Given the description of an element on the screen output the (x, y) to click on. 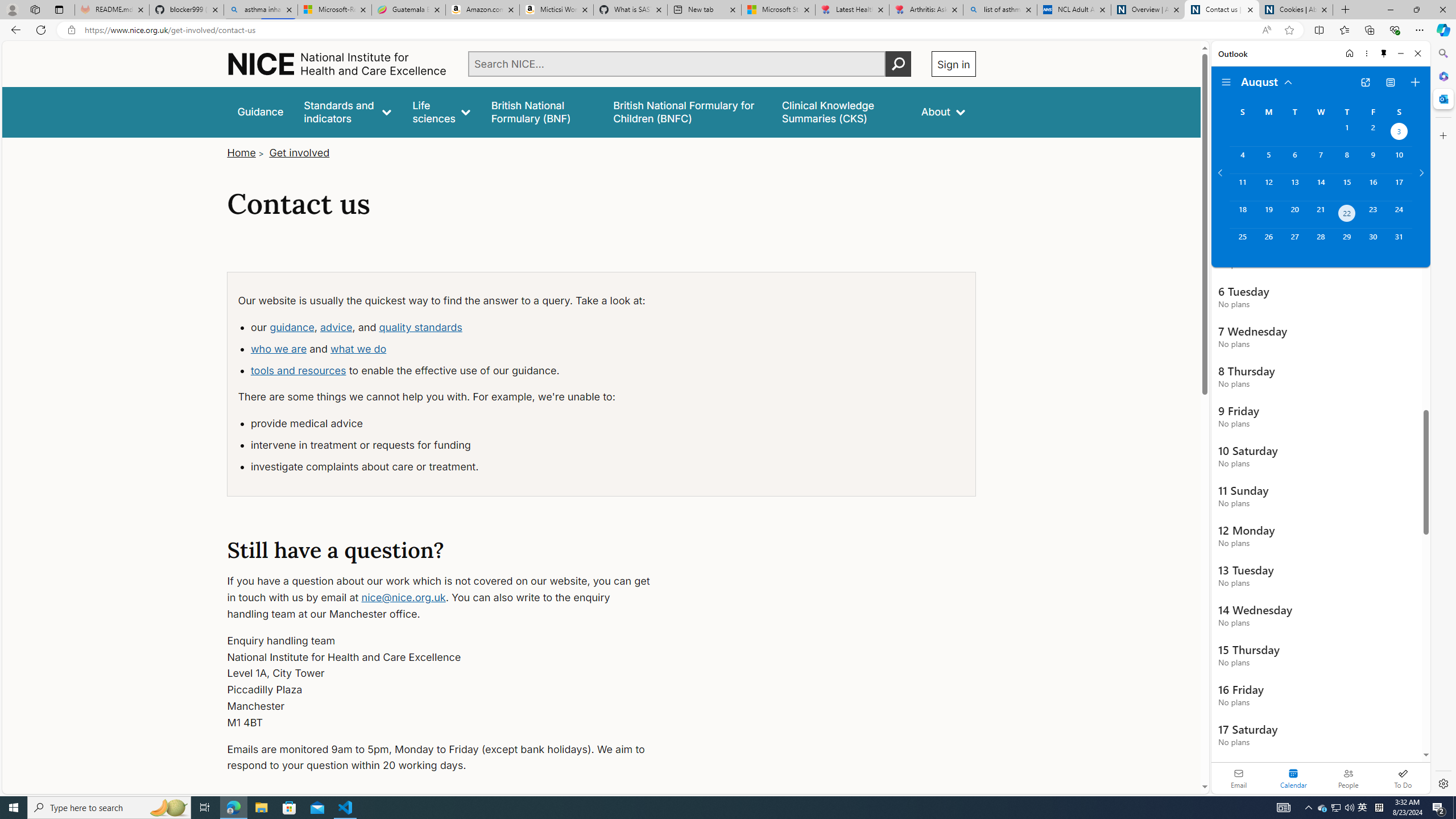
Perform search (898, 63)
Tuesday, August 6, 2024.  (1294, 159)
investigate complaints about care or treatment. (454, 466)
quality standards (420, 327)
Thursday, August 29, 2024.  (1346, 241)
Saturday, August 24, 2024.  (1399, 214)
